Given the description of an element on the screen output the (x, y) to click on. 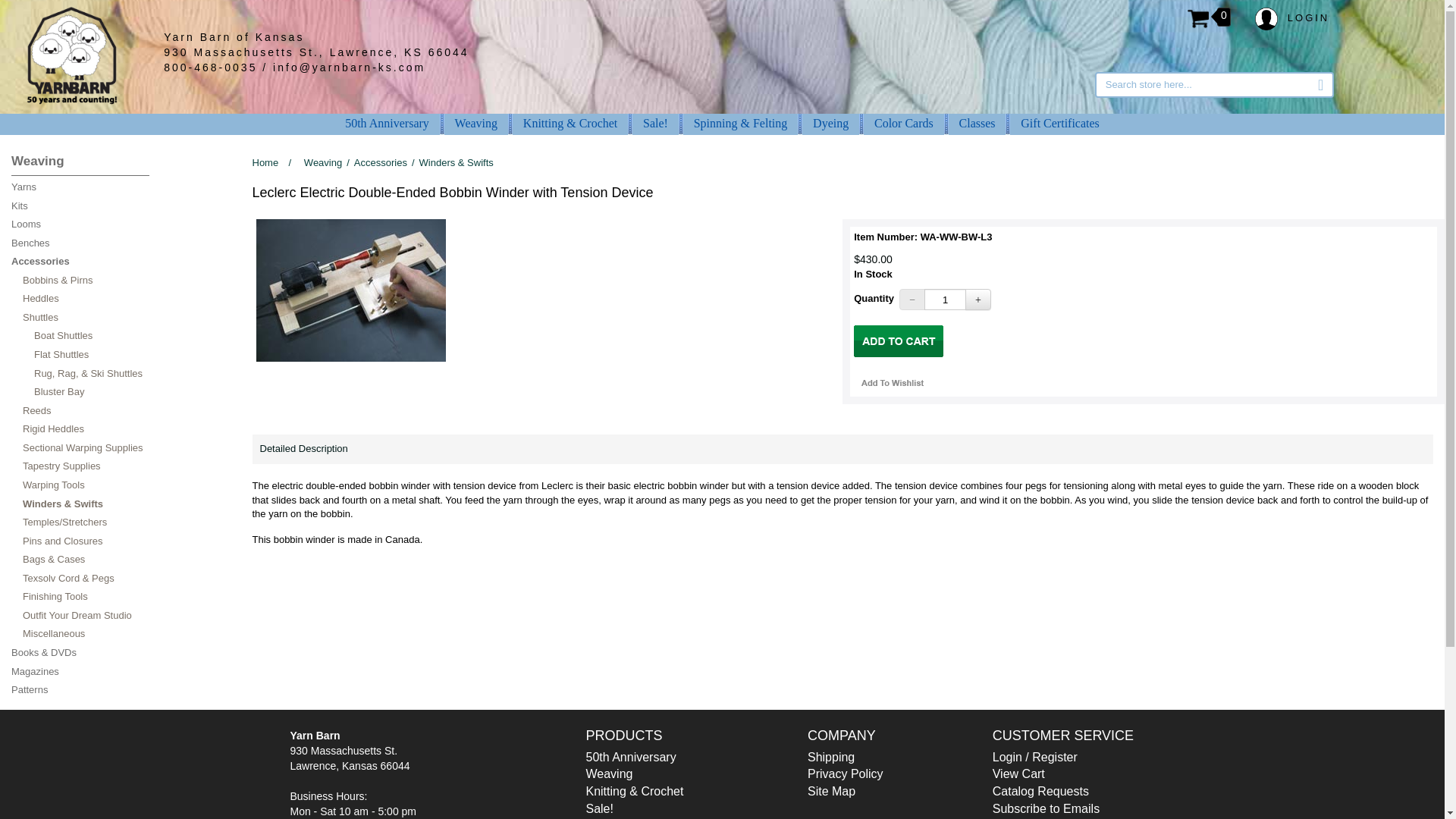
Weaving (475, 123)
50th Anniversary (387, 123)
Weaving (475, 123)
Search store here... (1213, 84)
Search store here... (1213, 84)
wishlist (892, 382)
1 (945, 299)
  LOGIN (1292, 18)
cart (898, 341)
Yarn Barn Of Kansas (71, 54)
